Given the description of an element on the screen output the (x, y) to click on. 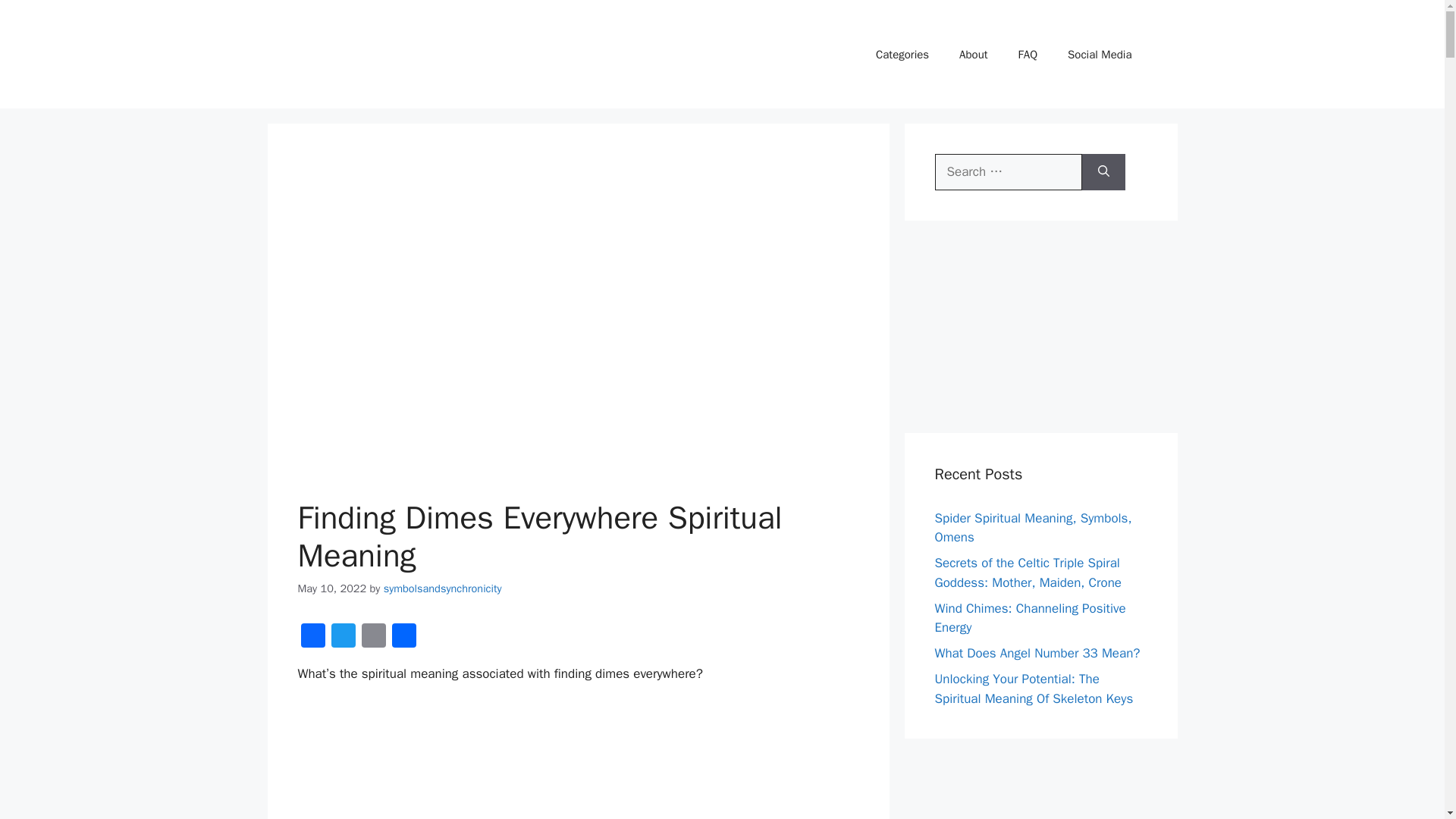
symbolsandsynchronicity (443, 588)
Twitter (342, 637)
Categories (901, 53)
What Does Angel Number 33 Mean? (1037, 652)
Facebook (312, 637)
View all posts by symbolsandsynchronicity (443, 588)
Facebook (312, 637)
Search for: (1007, 171)
FAQ (1027, 53)
About (973, 53)
